Given the description of an element on the screen output the (x, y) to click on. 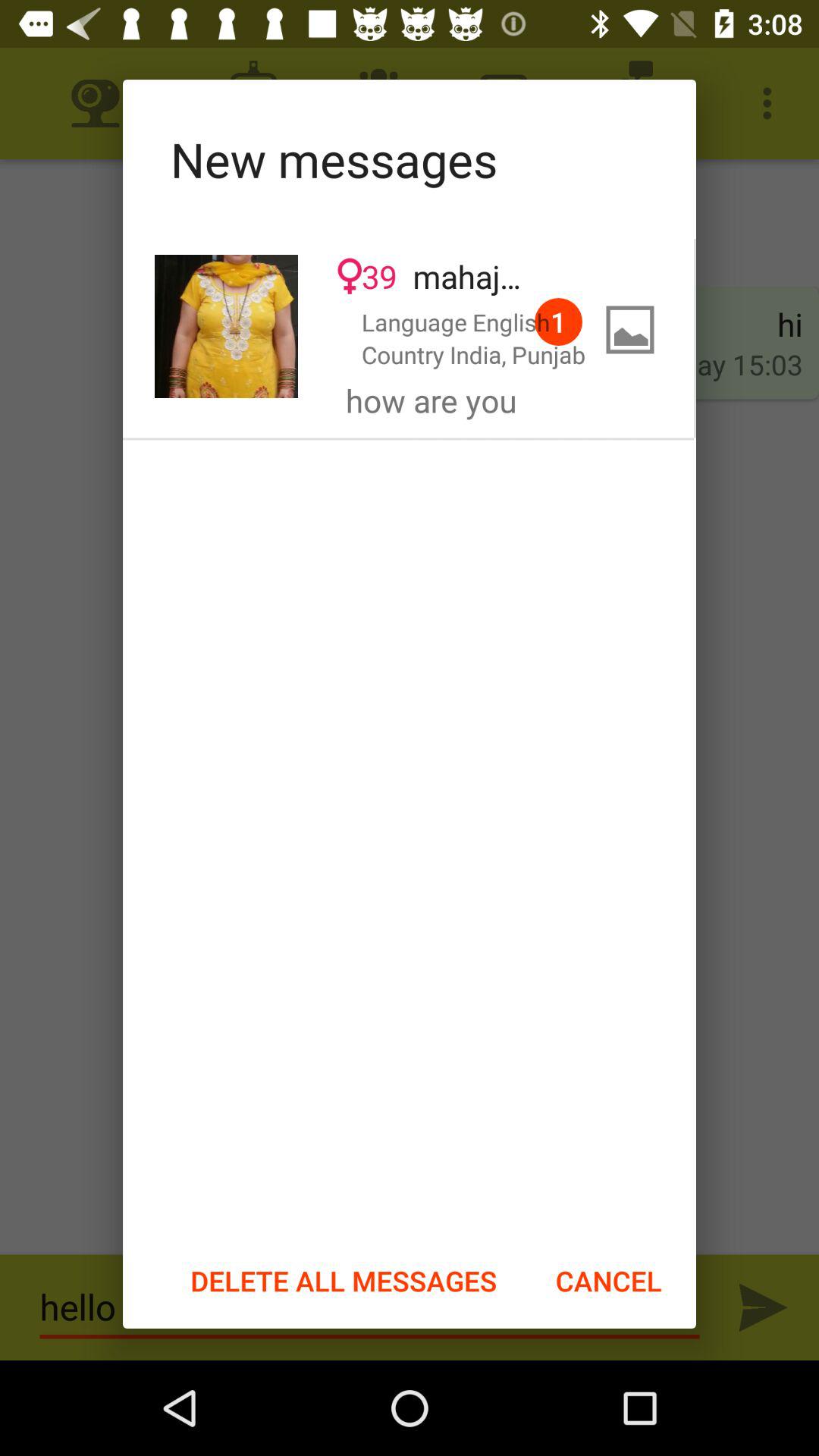
go to user 's profile (226, 326)
